Given the description of an element on the screen output the (x, y) to click on. 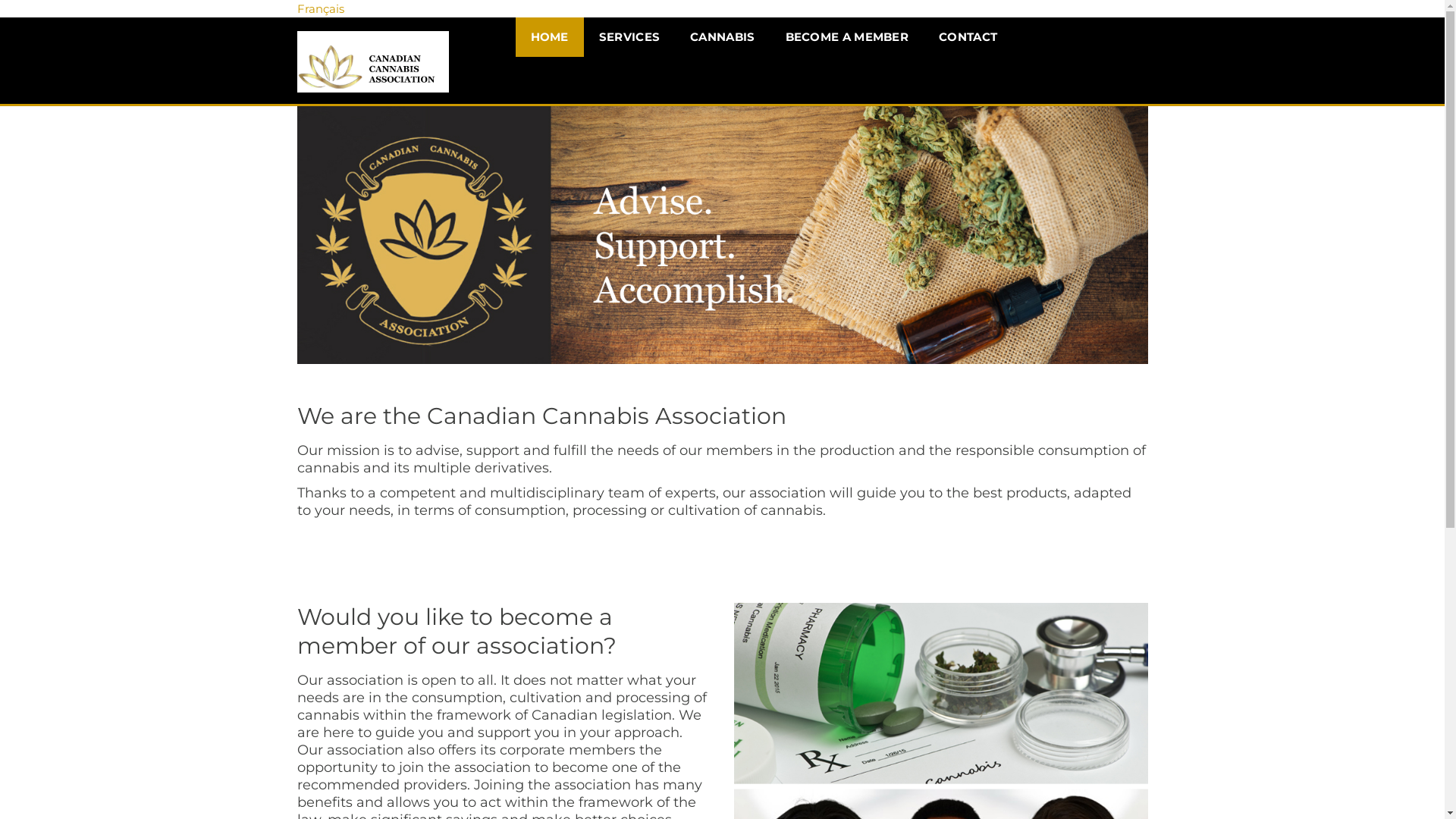
CANNABIS Element type: text (721, 36)
BECOME A MEMBER Element type: text (847, 36)
HOME Element type: text (549, 36)
CONTACT Element type: text (967, 36)
SERVICES Element type: text (628, 36)
